Given the description of an element on the screen output the (x, y) to click on. 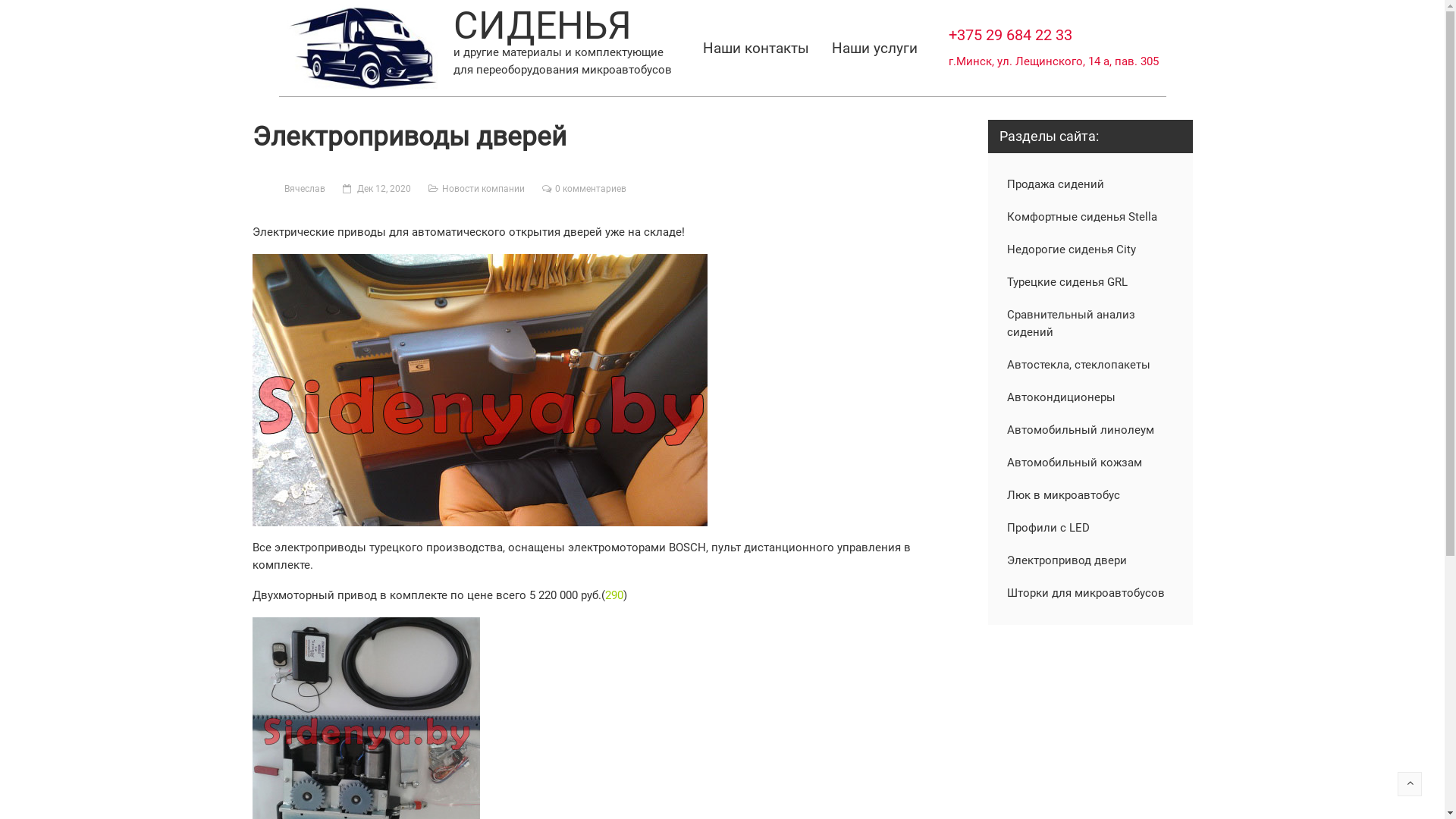
+375 29 684 22 33 Element type: text (1009, 34)
